Given the description of an element on the screen output the (x, y) to click on. 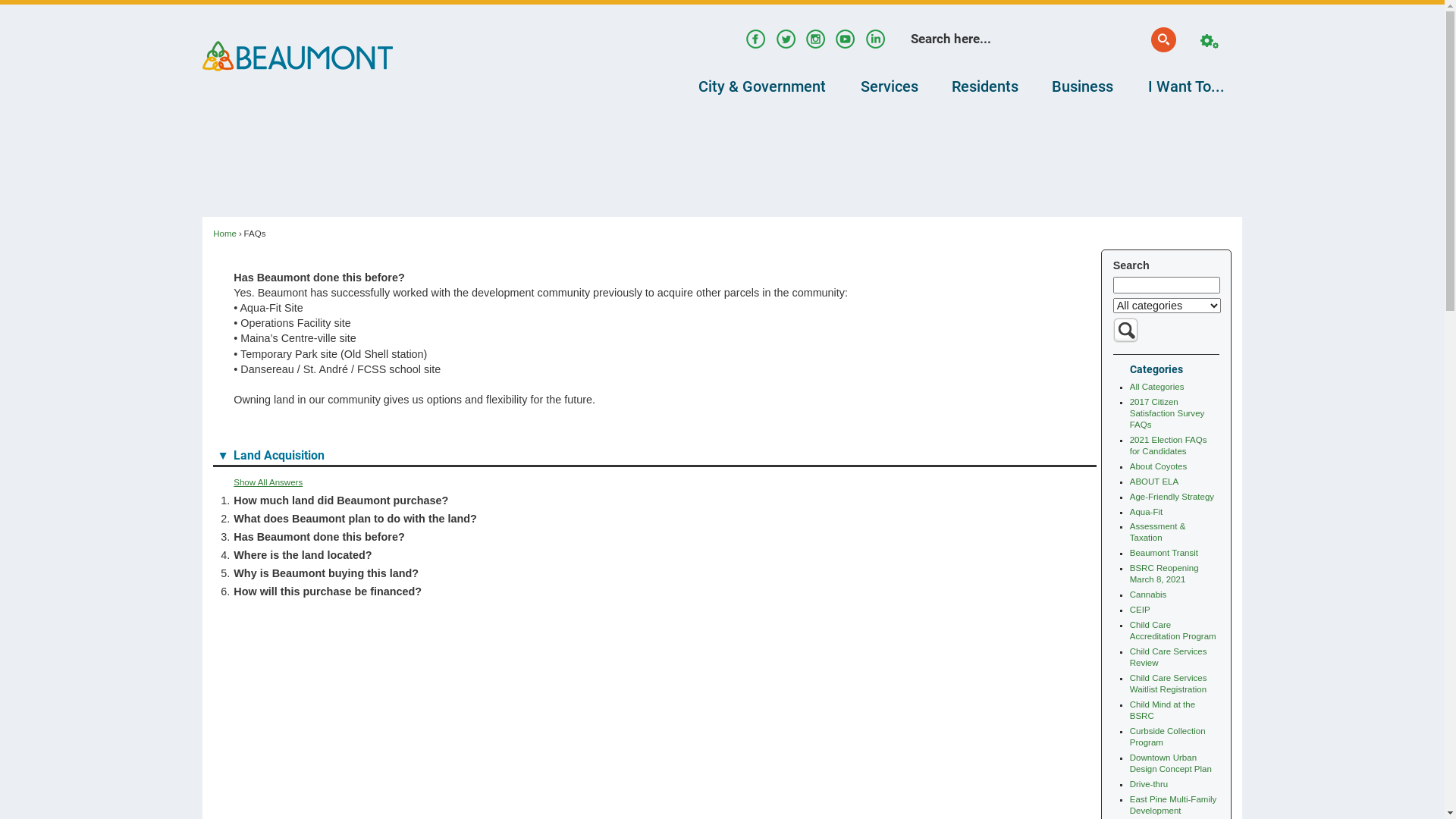
I Want To... Element type: text (1186, 86)
All Categories Element type: text (1156, 386)
Business Element type: text (1082, 86)
2021 Election FAQs for Candidates Element type: text (1168, 445)
How much land did Beaumont purchase? Element type: text (340, 500)
Why is Beaumont buying this land? Element type: text (325, 573)
Child Care Services Waitlist Registration Element type: text (1168, 683)
Age-Friendly Strategy Element type: text (1171, 496)
Has Beaumont done this before? Element type: text (318, 536)
City & Government Element type: text (762, 86)
Services Element type: text (889, 86)
Where is the land located? Element type: text (302, 555)
How will this purchase be financed? Element type: text (327, 591)
Cannabis Element type: text (1148, 594)
Residents Element type: text (985, 86)
Child Mind at the BSRC Element type: text (1162, 709)
Beaumont Transit Element type: text (1163, 552)
East Pine Multi-Family Development Element type: text (1173, 804)
ABOUT ELA Element type: text (1153, 481)
Search here... Element type: hover (1035, 38)
Curbside Collection Program Element type: text (1167, 736)
Home Element type: text (224, 233)
Assessment & Taxation Element type: text (1157, 531)
Drive-thru Element type: text (1148, 783)
1.
How much land did Beaumont purchase? Element type: text (654, 500)
Aqua-Fit Element type: text (1146, 511)
2.
What does Beaumont plan to do with the land? Element type: text (654, 518)
Search terms Element type: hover (1166, 284)
About Coyotes Element type: text (1158, 465)
Skip to Main Content Element type: text (6, 6)
5.
Why is Beaumont buying this land? Element type: text (654, 572)
Child Care Accreditation Program Element type: text (1172, 630)
What does Beaumont plan to do with the land? Element type: text (354, 518)
2017 Citizen Satisfaction Survey FAQs Element type: text (1166, 413)
Downtown Urban Design Concept Plan Element type: text (1170, 763)
BSRC Reopening March 8, 2021 Element type: text (1163, 573)
6.
How will this purchase be financed? Element type: text (654, 591)
3.
Has Beaumont done this before? Element type: text (654, 536)
Child Care Services Review Element type: text (1168, 656)
CEIP Element type: text (1139, 609)
4.
Where is the land located? Element type: text (654, 554)
Search Element type: hover (1125, 329)
Show All Answers Element type: text (267, 481)
